Given the description of an element on the screen output the (x, y) to click on. 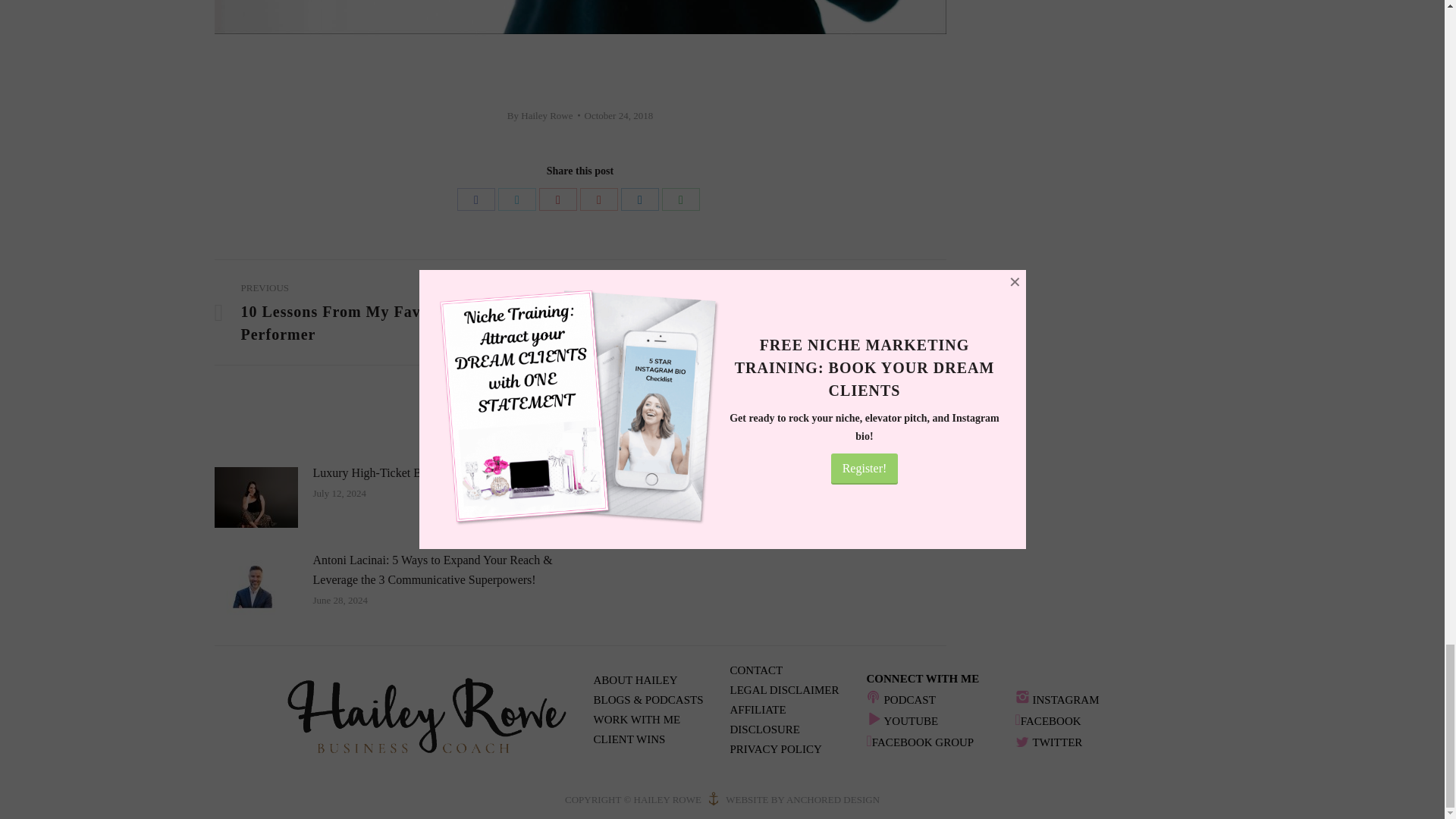
Pinterest (557, 199)
Twitter (516, 199)
Facebook (476, 199)
View all posts by Hailey Rowe (542, 115)
WhatsApp (681, 199)
LinkedIn (640, 199)
6:00 am (619, 115)
